Given the description of an element on the screen output the (x, y) to click on. 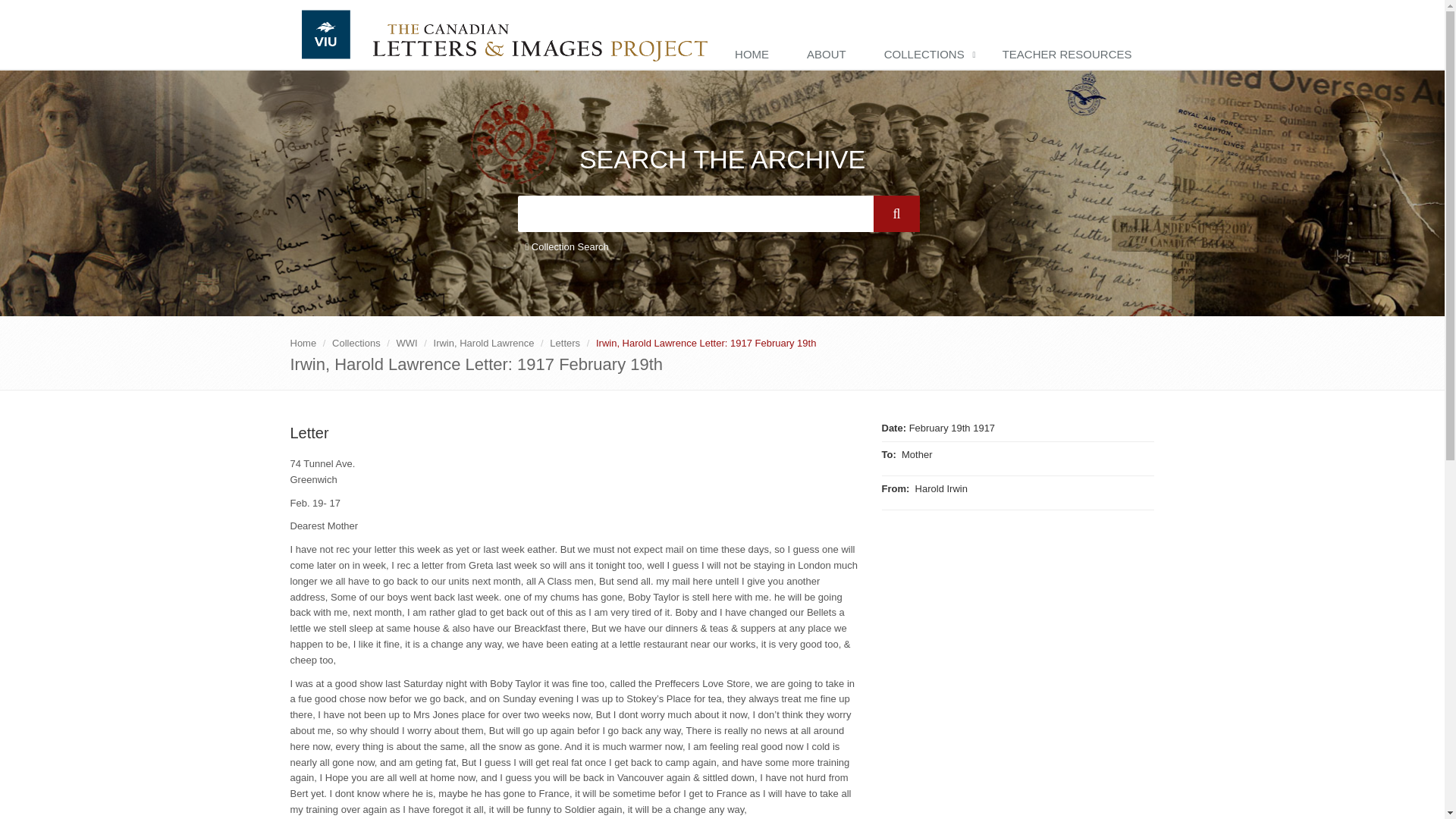
Collections (355, 342)
TEACHER RESOURCES (1070, 55)
COLLECTIONS (928, 55)
Home (302, 342)
WWI (406, 342)
Collection Search (566, 247)
Enter the terms you wish to search for. (694, 213)
Letters (564, 342)
Irwin, Harold Lawrence (483, 342)
